Given the description of an element on the screen output the (x, y) to click on. 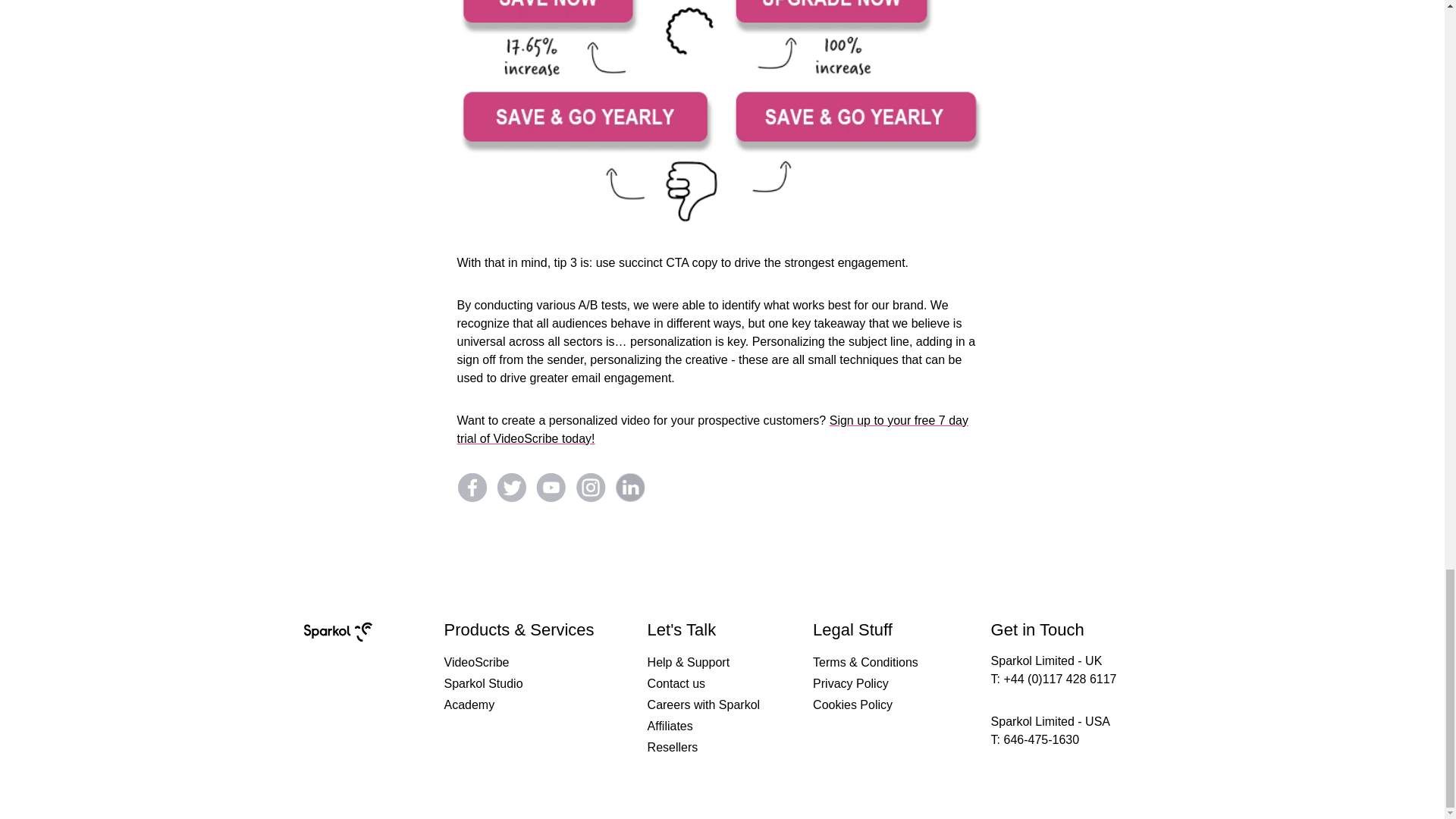
Affiliates (670, 726)
Resellers (672, 747)
VideoScribe (476, 662)
Careers with Sparkol (703, 704)
Contact us (675, 683)
Sparkol homepage (338, 648)
Academy (469, 704)
Sign up to your free 7 day trial of VideoScribe today! (712, 429)
Privacy Policy (850, 683)
Sparkol Studio (483, 683)
